Given the description of an element on the screen output the (x, y) to click on. 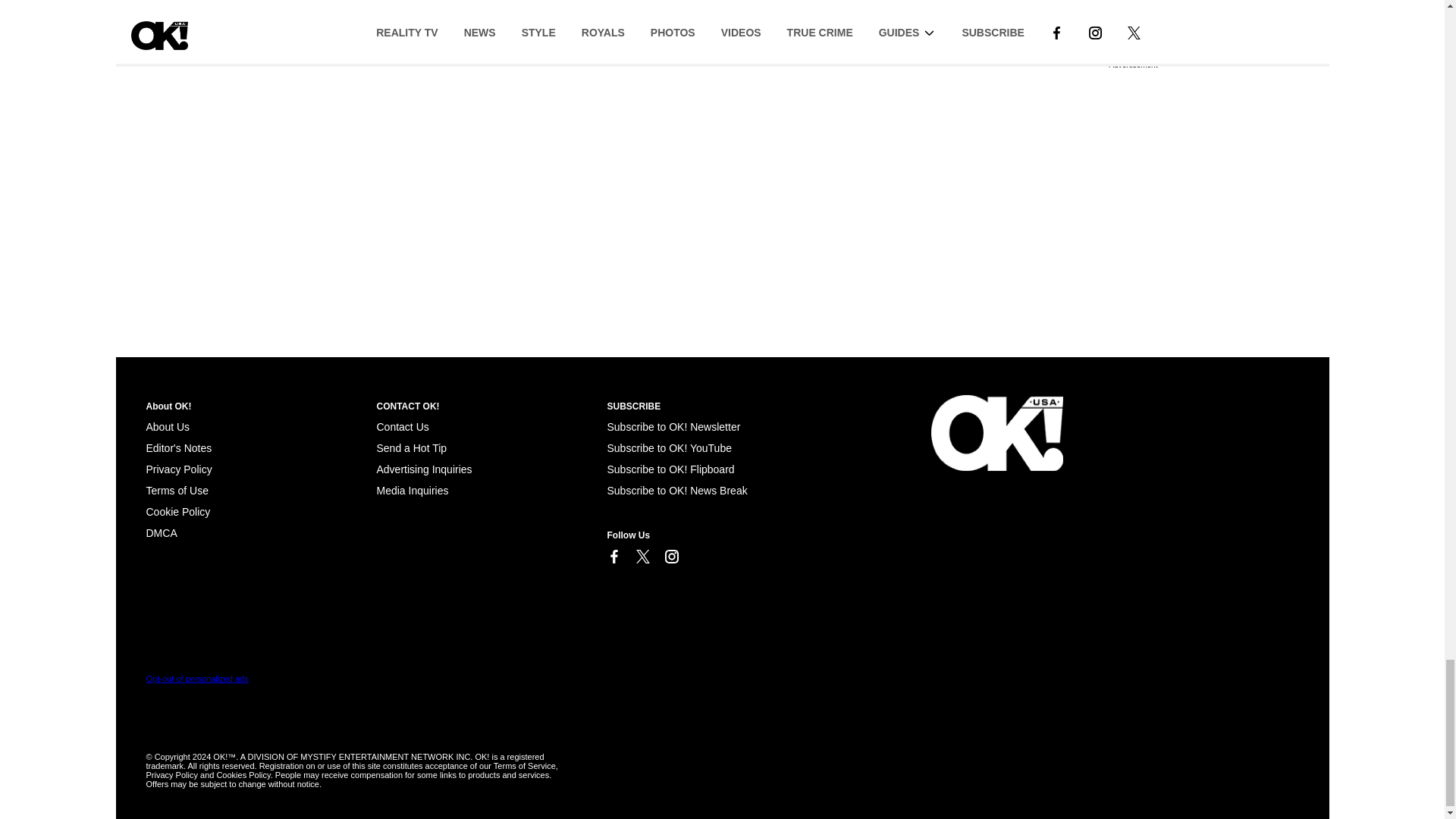
Link to Facebook (613, 556)
Privacy Policy (178, 469)
Link to X (641, 556)
Link to Instagram (670, 556)
About Us (167, 426)
Cookie Policy (160, 532)
Send a Hot Tip (410, 448)
Editor's Notes (178, 448)
Contact Us (401, 426)
Terms of Use (176, 490)
